Given the description of an element on the screen output the (x, y) to click on. 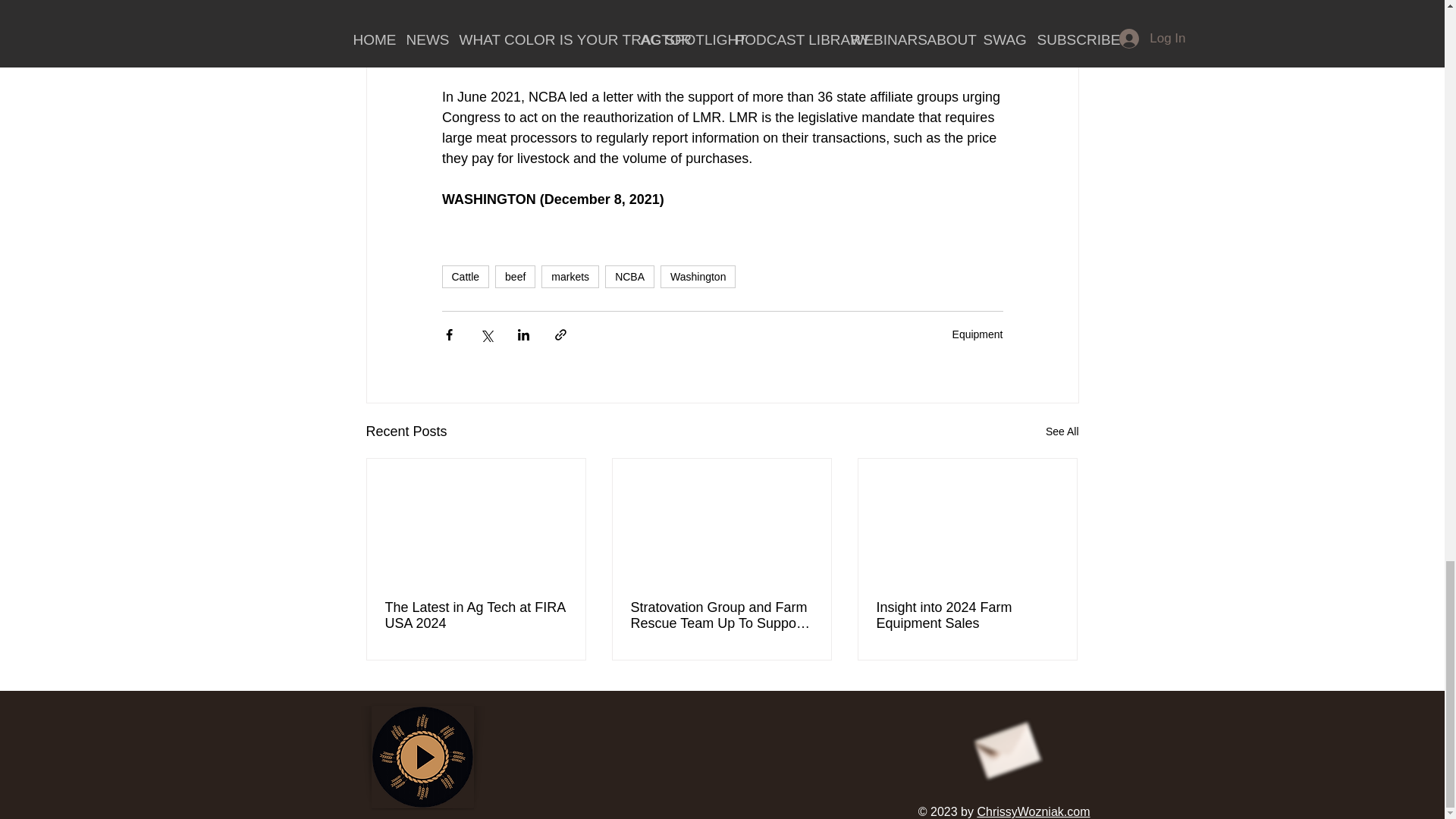
Washington (698, 276)
NCBA (629, 276)
Cattle (465, 276)
beef (515, 276)
markets (569, 276)
